Given the description of an element on the screen output the (x, y) to click on. 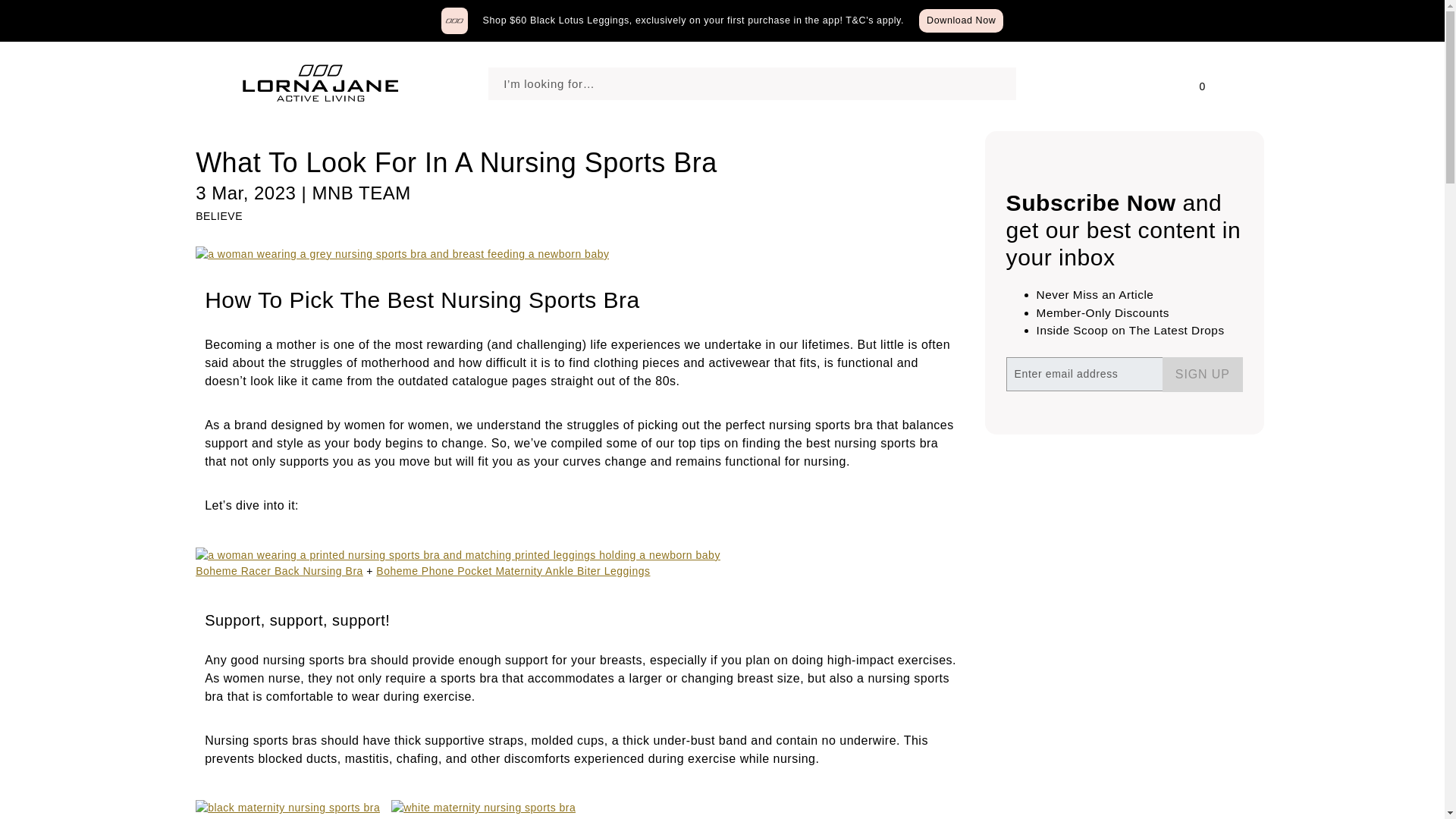
Boheme Phone Pocket Maternity Ankle Biter Leggings (512, 571)
Download Now (960, 20)
white maternity nursing sports bra (483, 807)
Black LJ Nursing Sports Bra (267, 818)
Boheme Racer Back Nursing Bra (278, 571)
White LJ Nursing Sports Bra (463, 818)
black maternity nursing sports bra (287, 807)
